Given the description of an element on the screen output the (x, y) to click on. 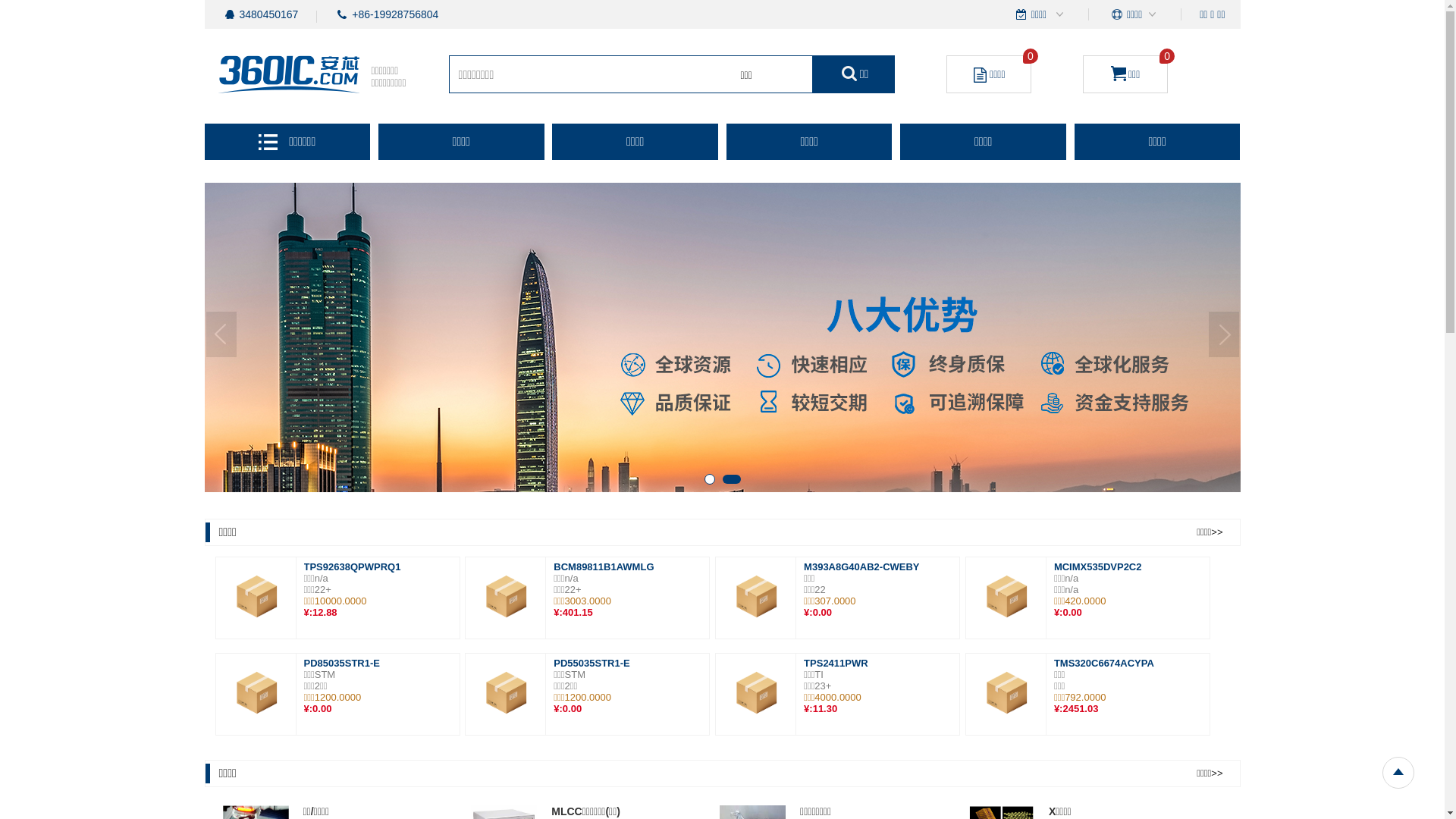
PD85035STR1-E Element type: text (341, 662)
TPS2411PWR Element type: text (835, 662)
PD55035STR1-E Element type: text (591, 662)
1 Element type: text (710, 481)
3480450167 Element type: text (268, 14)
MCIMX535DVP2C2 Element type: text (1098, 566)
BCM89811B1AWMLG Element type: text (603, 566)
TPS92638QPWPRQ1 Element type: text (351, 566)
M393A8G40AB2-CWEBY Element type: text (861, 566)
2 Element type: text (738, 481)
TMS320C6674ACYPA Element type: text (1104, 662)
